Given the description of an element on the screen output the (x, y) to click on. 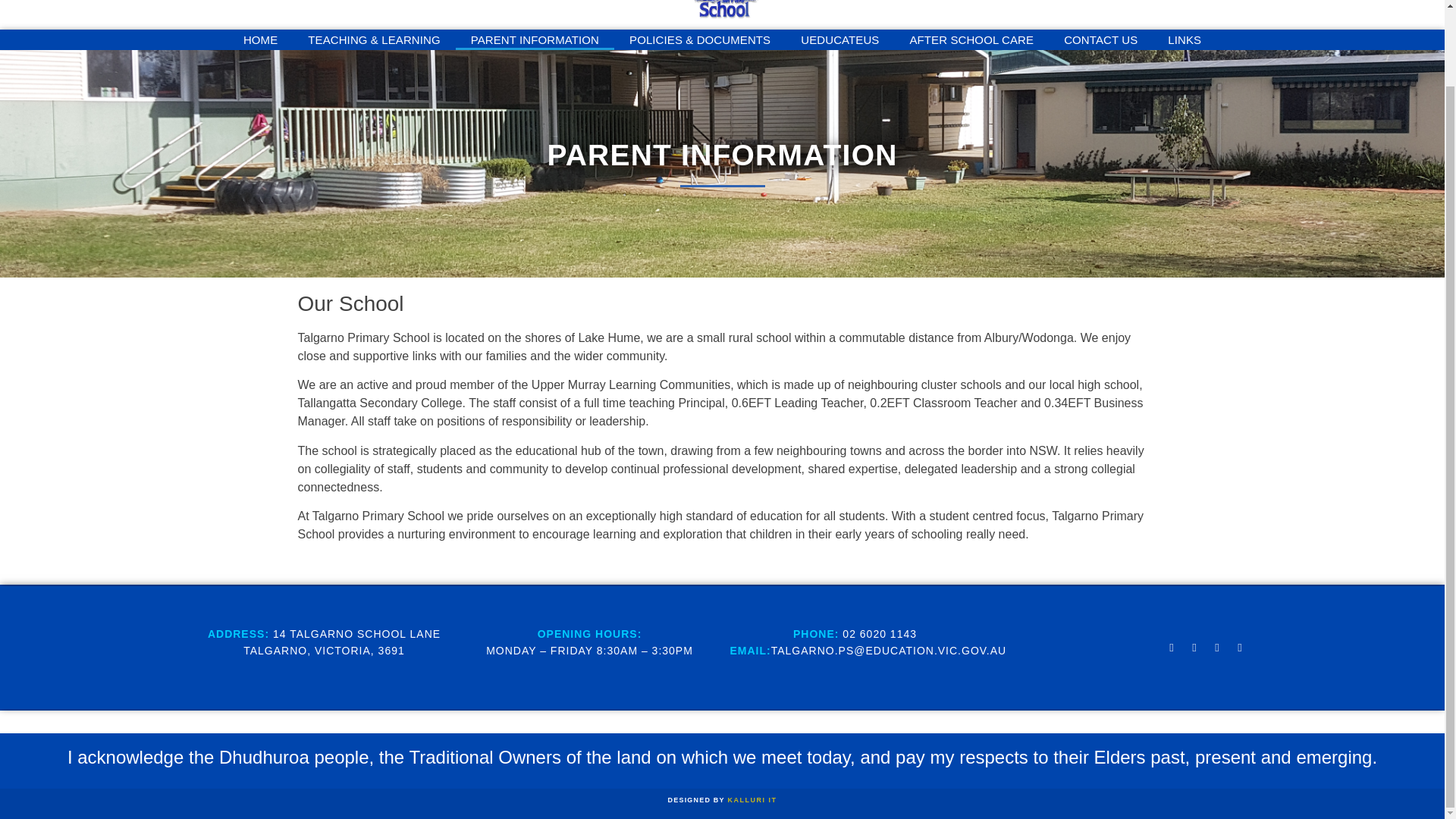
AFTER SCHOOL CARE (970, 39)
LINKS (1184, 39)
CONTACT US (1100, 39)
PARENT INFORMATION (534, 39)
UEDUCATEUS (839, 39)
HOME (260, 39)
